Given the description of an element on the screen output the (x, y) to click on. 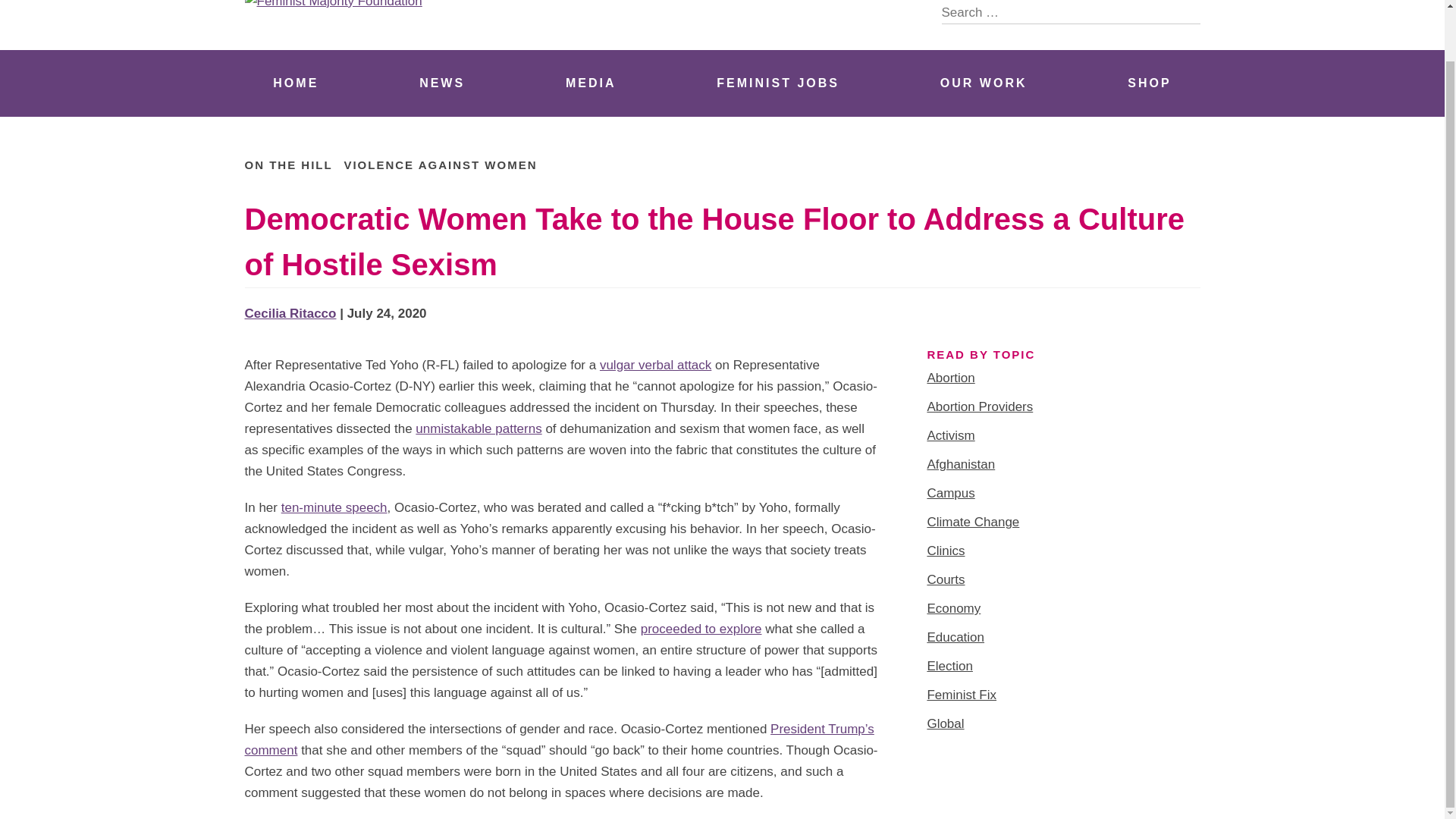
FEMINIST JOBS (777, 83)
Posts by Cecilia Ritacco (290, 313)
ON THE HILL (287, 164)
Search (1187, 11)
Search for: (1070, 12)
Cecilia Ritacco (290, 313)
HOME (295, 83)
MEDIA (591, 83)
proceeded to explore (700, 628)
OUR WORK (983, 83)
ten-minute speech (334, 507)
unmistakable patterns (477, 428)
Search (1187, 11)
VIOLENCE AGAINST WOMEN (440, 164)
vulgar verbal attack (655, 364)
